Given the description of an element on the screen output the (x, y) to click on. 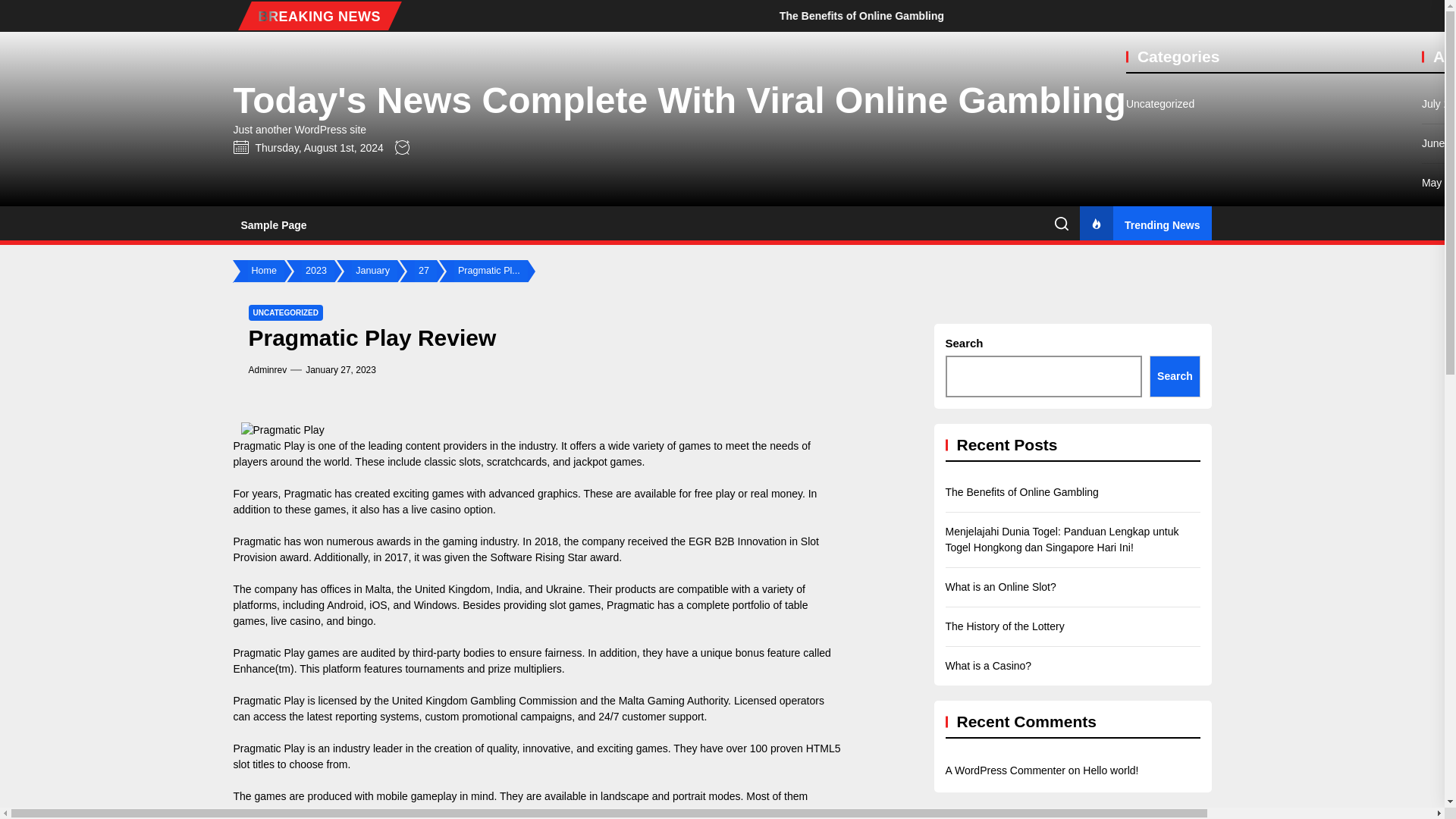
June 2024 (1439, 143)
May 2023 (1439, 656)
July 2023 (1439, 577)
May 2024 (1439, 182)
April 2023 (1439, 695)
June 2023 (1439, 616)
August 2023 (1439, 537)
March 2023 (1439, 734)
The Benefits of Online Gambling (986, 15)
Sample Page (273, 224)
October 2023 (1439, 458)
September 2023 (1439, 498)
Uncategorized (1159, 104)
December 2023 (1439, 380)
Today's News Complete With Viral Online Gambling (678, 100)
